Given the description of an element on the screen output the (x, y) to click on. 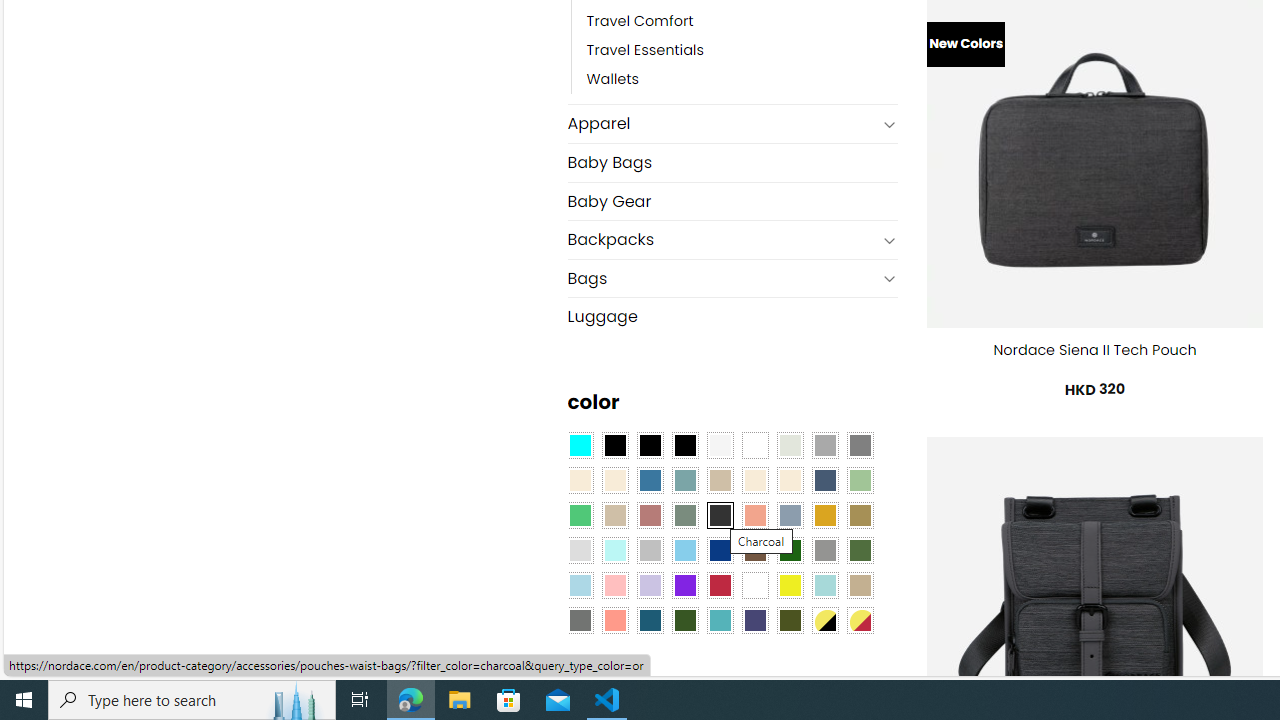
Khaki (859, 584)
Purple Navy (755, 619)
Baby Bags (732, 161)
Aqua Blue (579, 444)
Light Purple (650, 584)
Black-Brown (684, 444)
Navy Blue (719, 550)
Yellow-Red (859, 619)
Red (719, 584)
Hale Navy (824, 480)
Teal (719, 619)
Clear (755, 444)
Sky Blue (684, 550)
Kelp (859, 514)
Peach Pink (614, 619)
